Given the description of an element on the screen output the (x, y) to click on. 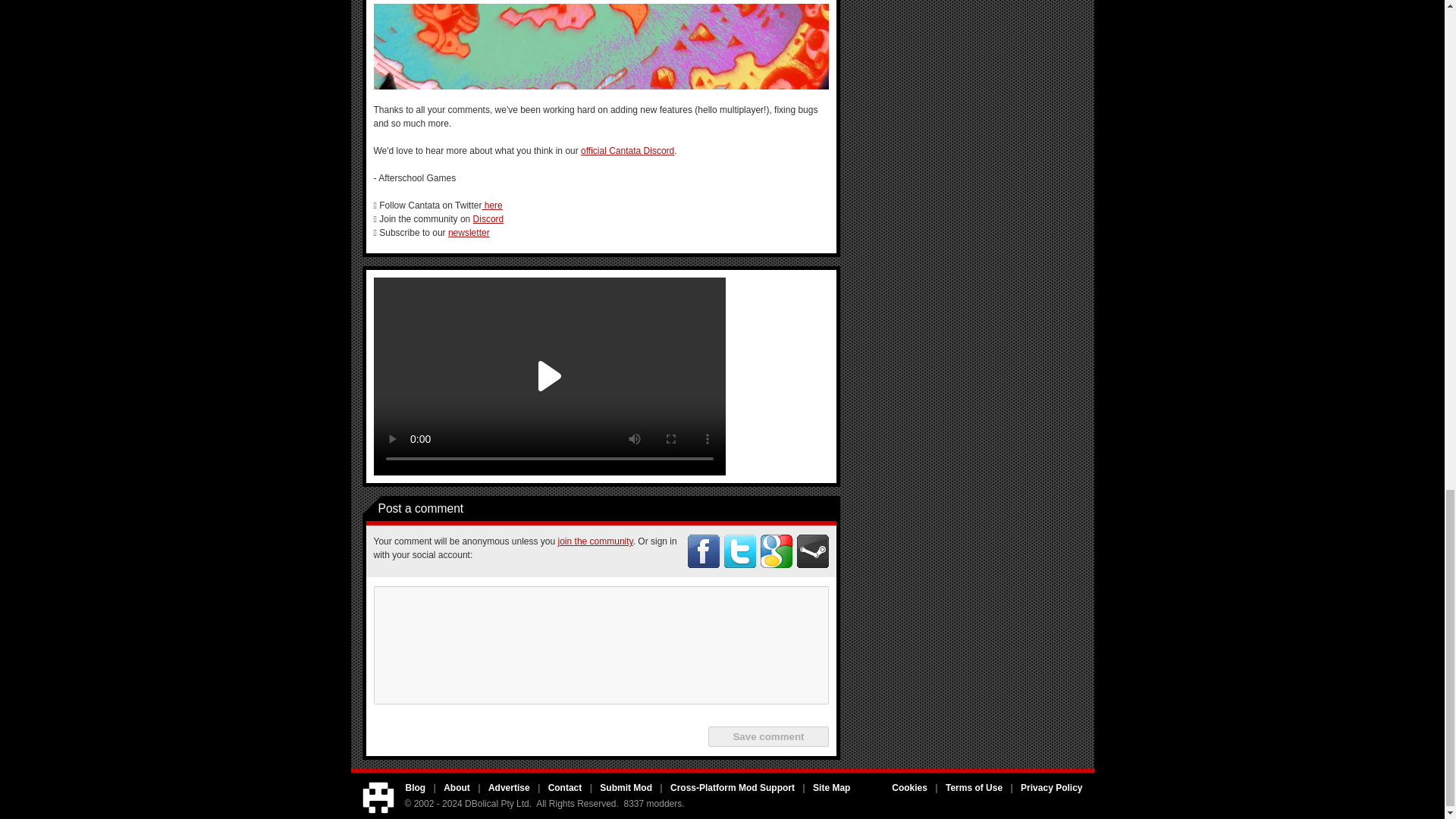
Click to connect via Steam (812, 551)
Save comment (767, 736)
Click to connect via Twitter (739, 551)
Click to connect via Google (776, 551)
